Given the description of an element on the screen output the (x, y) to click on. 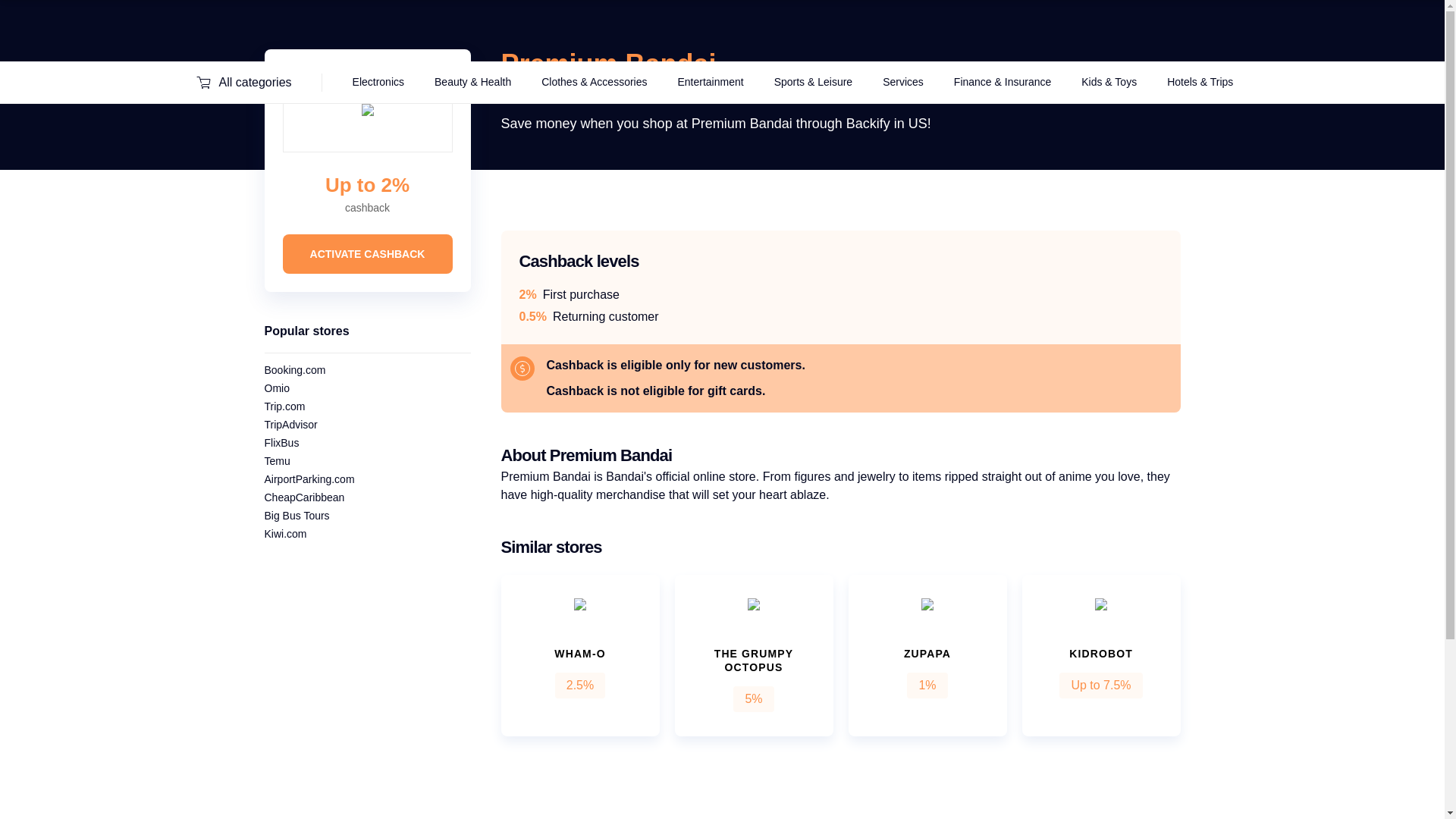
ACTIVATE CASHBACK (366, 253)
Booking.com (293, 369)
FlixBus (280, 442)
AirportParking.com (308, 479)
Trip.com (283, 406)
CheapCaribbean (303, 497)
Kiwi.com (284, 533)
Electronics (378, 82)
TripAdvisor (290, 424)
Entertainment (709, 82)
Temu (276, 460)
Services (902, 82)
Big Bus Tours (296, 515)
Omio (275, 387)
